Given the description of an element on the screen output the (x, y) to click on. 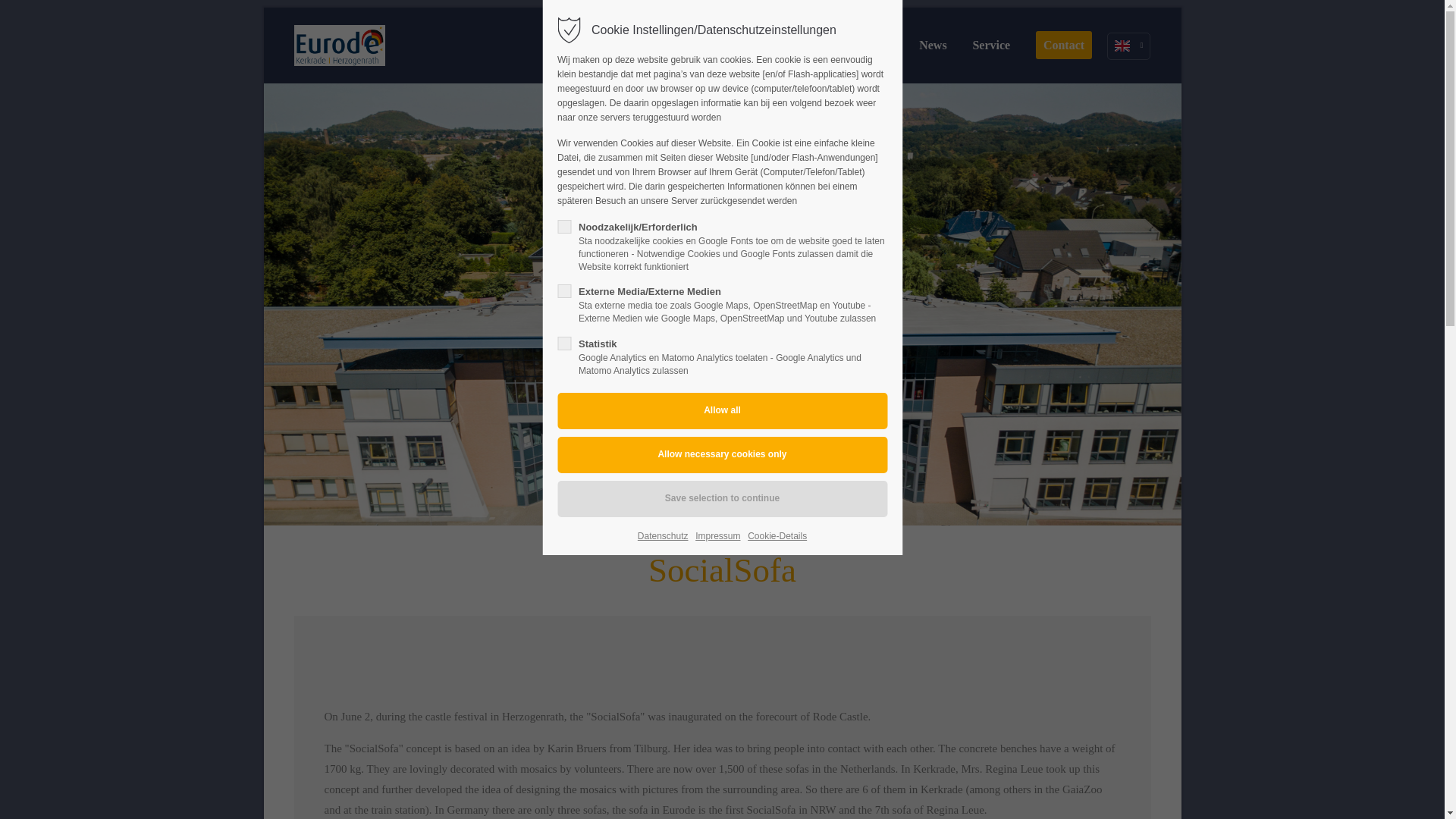
Allow all (721, 411)
Save selection to continue (721, 498)
Allow necessary cookies only (721, 454)
